Given the description of an element on the screen output the (x, y) to click on. 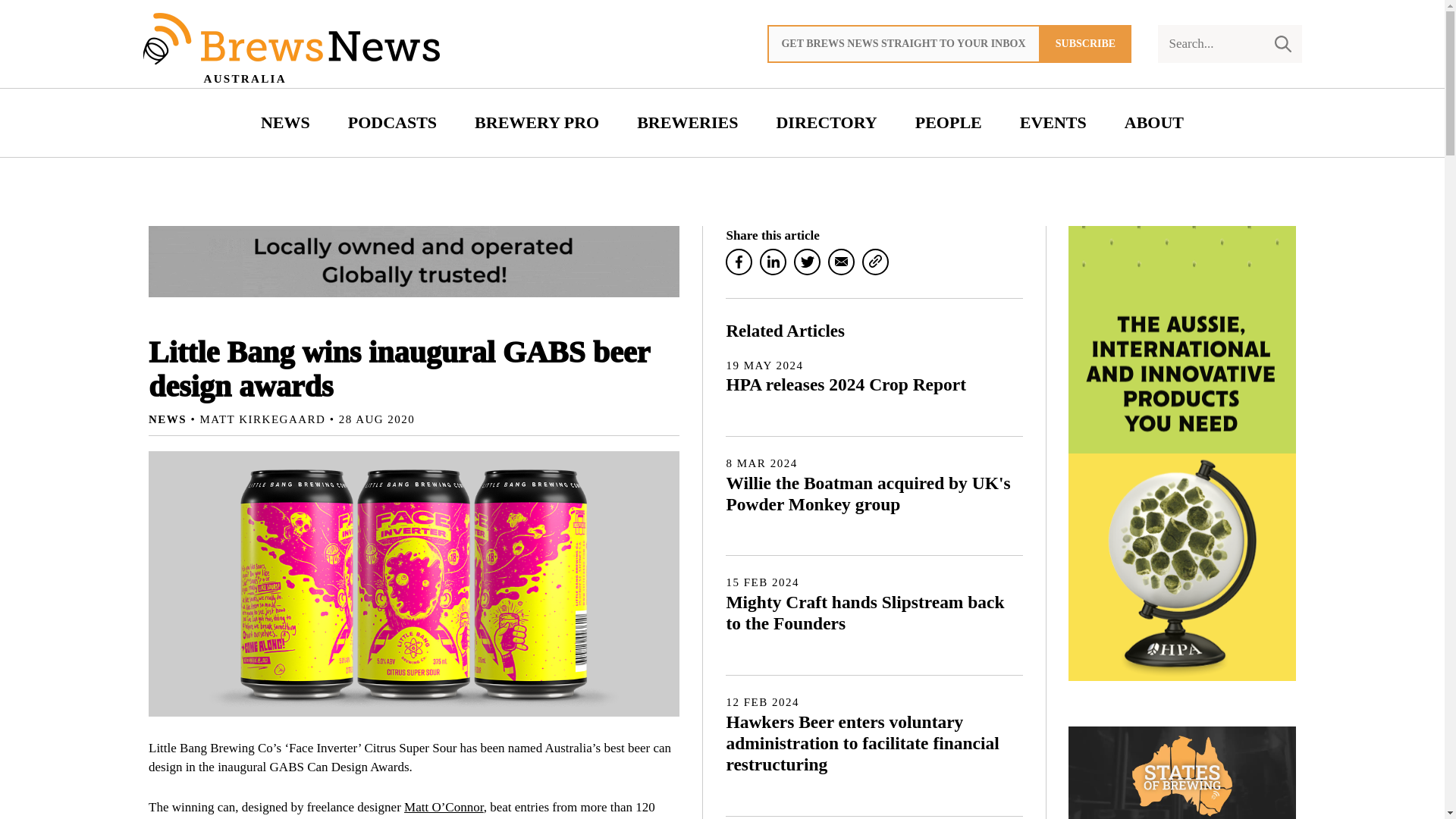
SEARCH (1282, 44)
EVENTS (1053, 122)
ABOUT (1154, 122)
PODCASTS (392, 122)
BREWERIES (687, 122)
Subscribe (1086, 44)
NEWS (284, 122)
Subscribe (1086, 44)
PEOPLE (948, 122)
BREWERY PRO (536, 122)
DIRECTORY (826, 122)
